Given the description of an element on the screen output the (x, y) to click on. 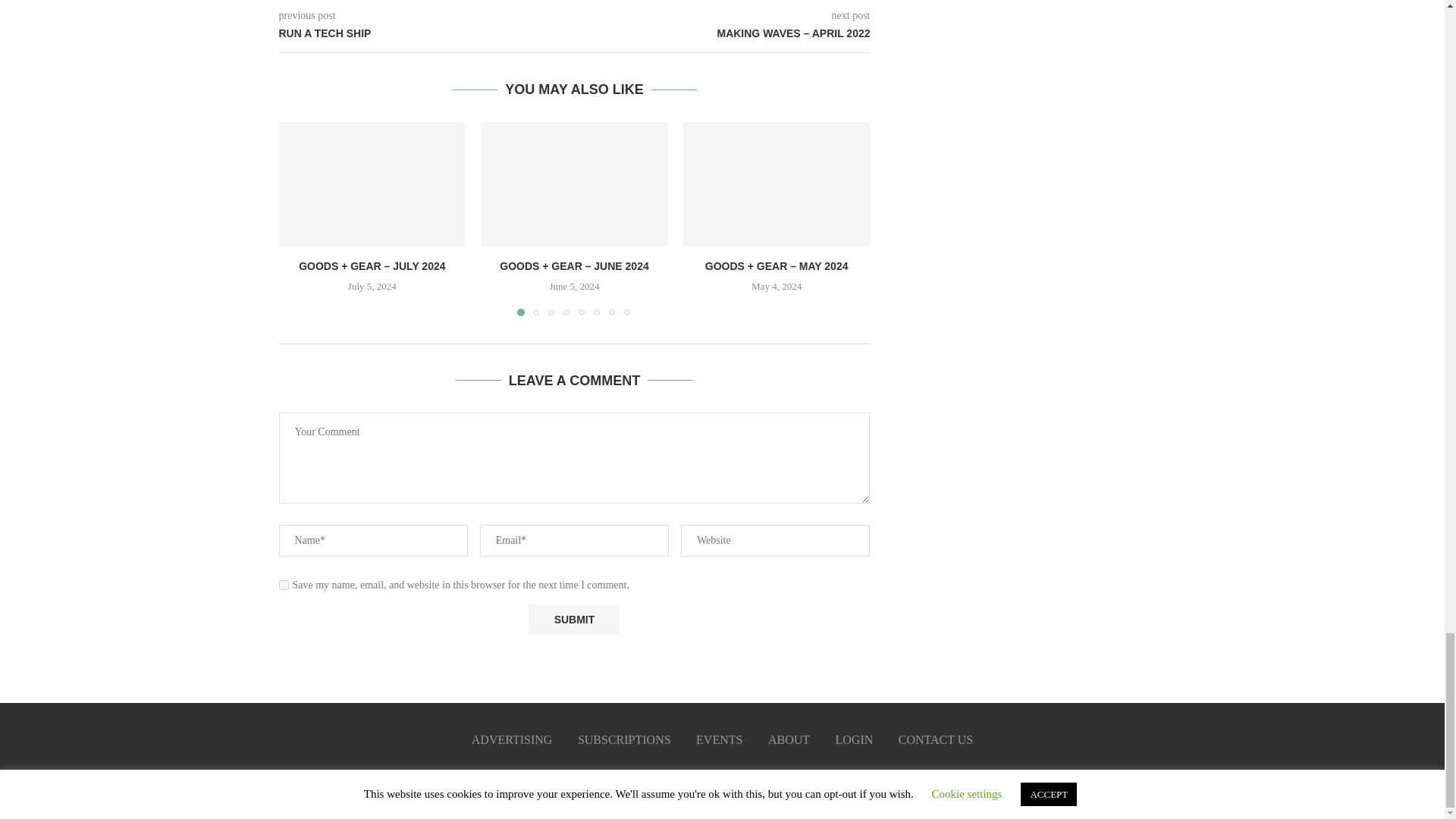
yes (283, 584)
Submit (574, 619)
